Given the description of an element on the screen output the (x, y) to click on. 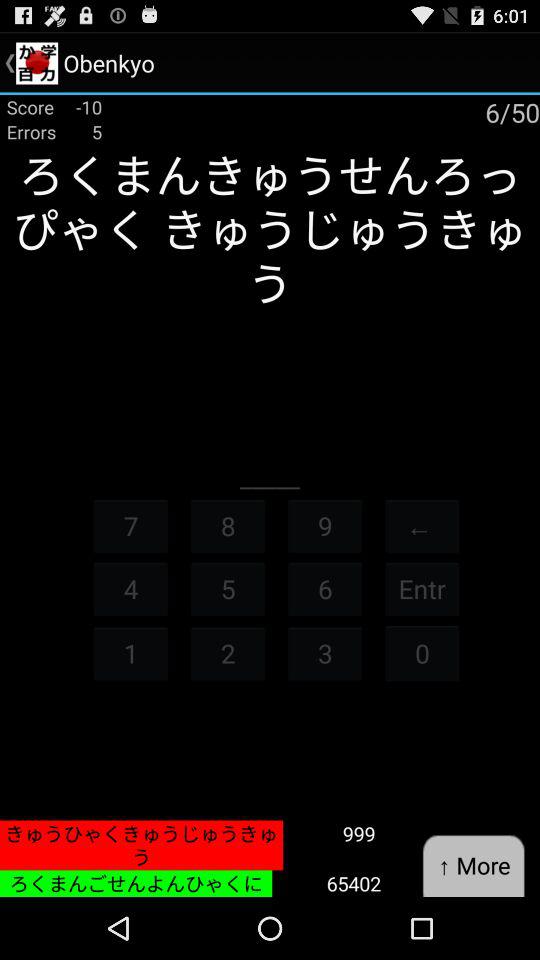
launch icon next to the 6 icon (422, 652)
